Given the description of an element on the screen output the (x, y) to click on. 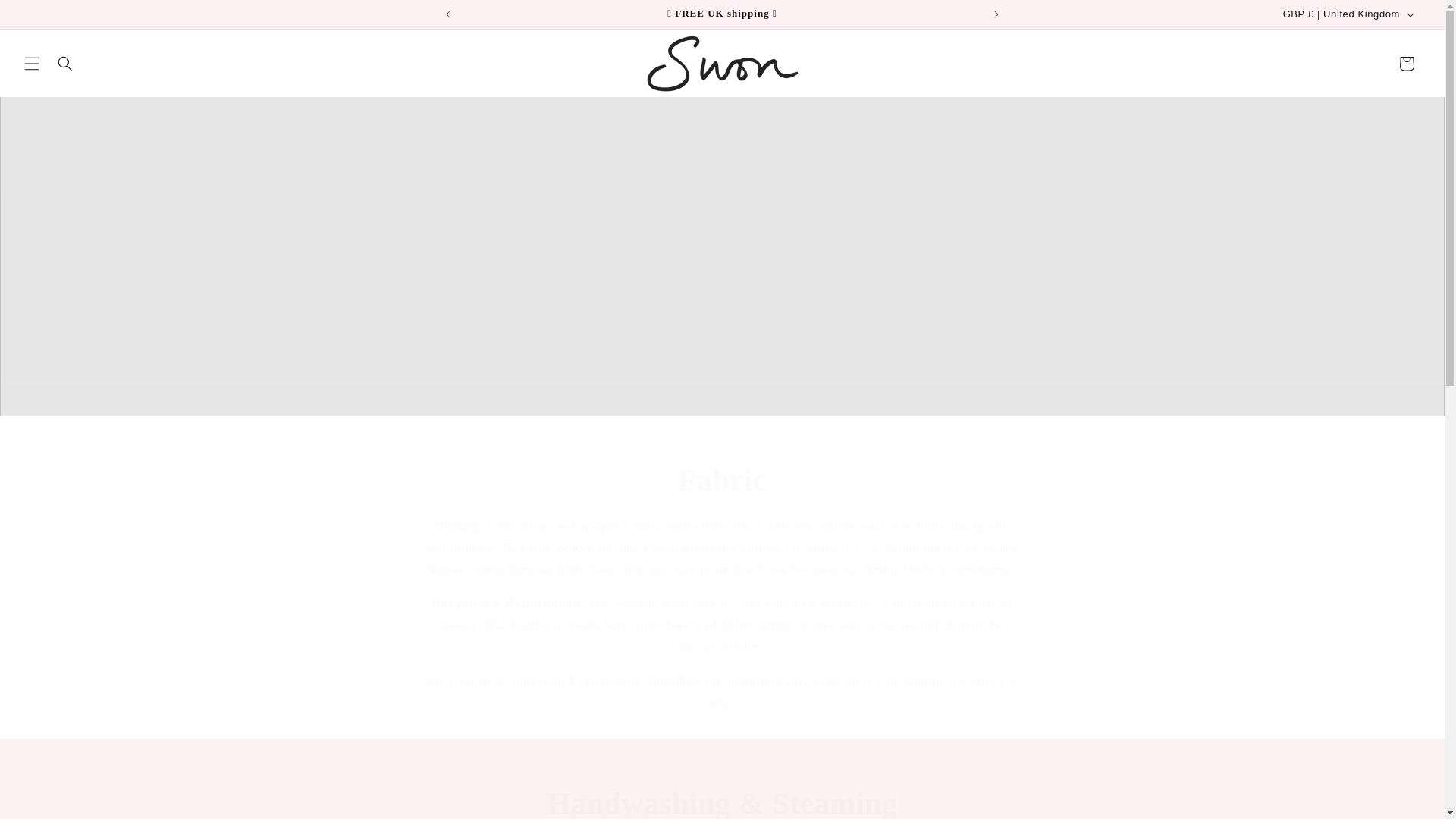
Fabric (721, 480)
Skip to content (45, 17)
Cart (1406, 63)
